Given the description of an element on the screen output the (x, y) to click on. 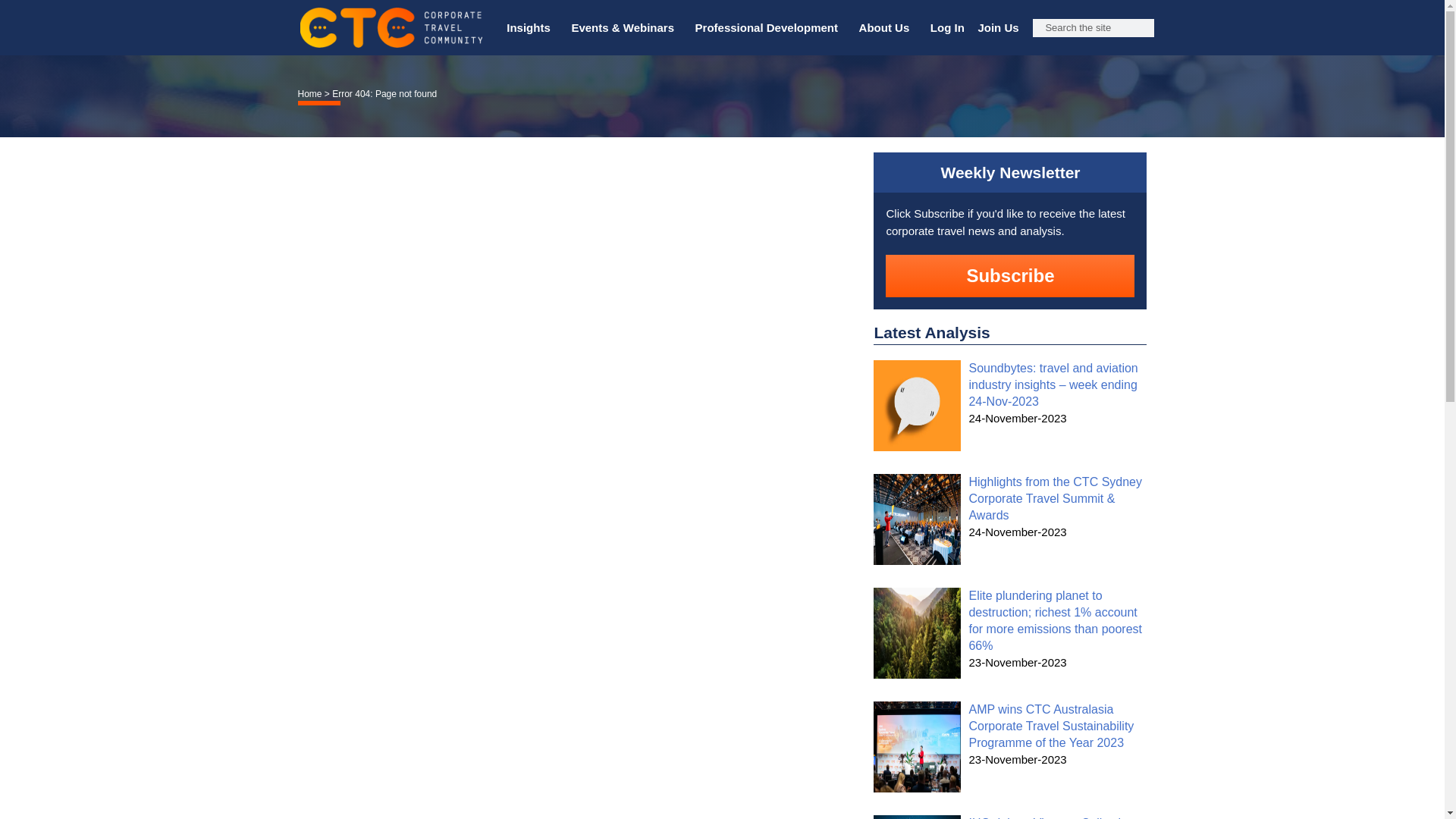
Log In (947, 27)
logo-header (390, 27)
Professional Development (769, 27)
About Us (887, 27)
Join Us (998, 27)
Insights (531, 27)
